Given the description of an element on the screen output the (x, y) to click on. 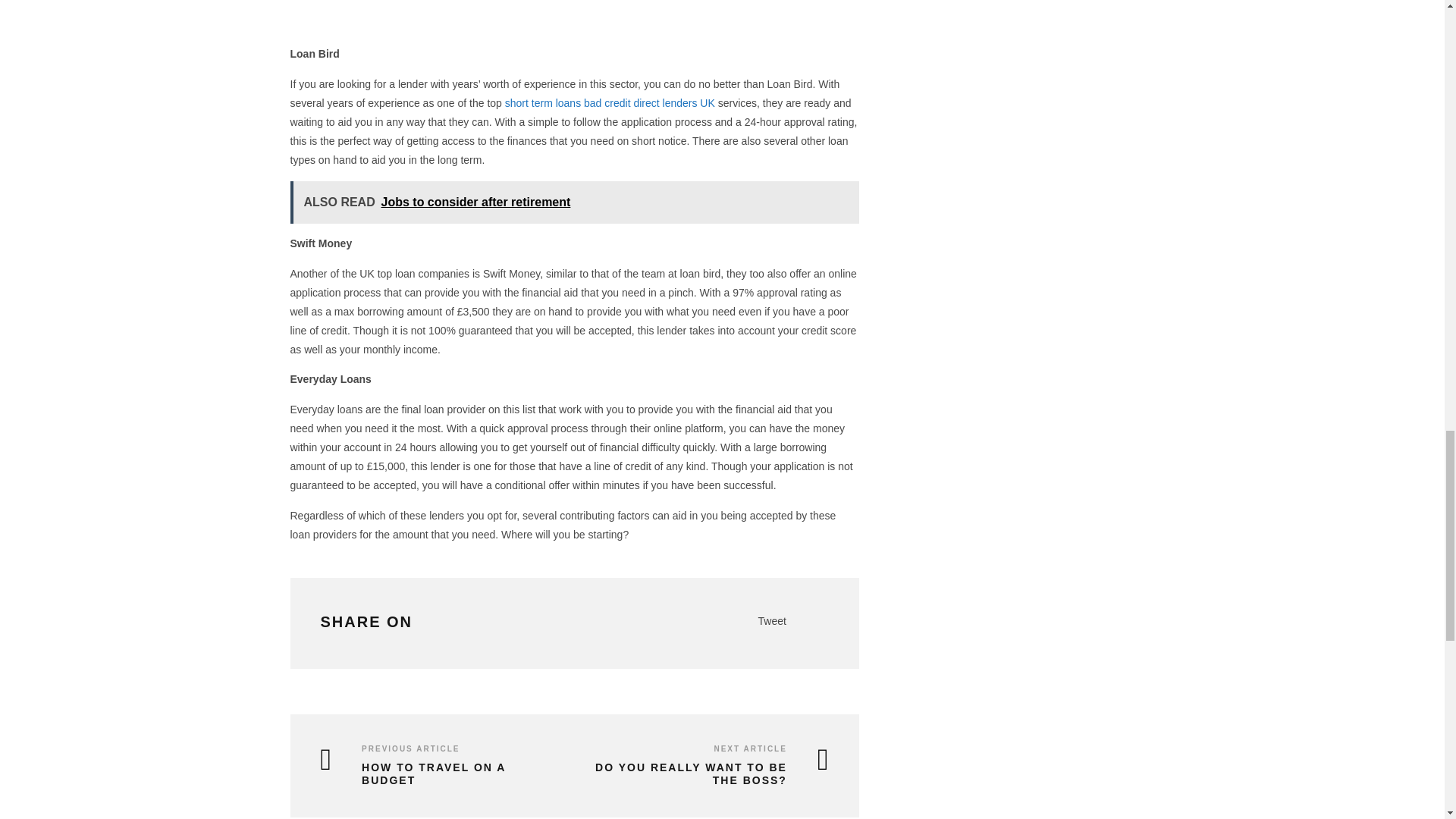
ALSO READ  Jobs to consider after retirement (574, 202)
Tweet (772, 621)
short term loans bad credit direct lenders UK (609, 102)
HOW TO TRAVEL ON A BUDGET (435, 774)
PREVIOUS ARTICLE (410, 748)
DO YOU REALLY WANT TO BE THE BOSS? (705, 774)
NEXT ARTICLE (749, 748)
